Given the description of an element on the screen output the (x, y) to click on. 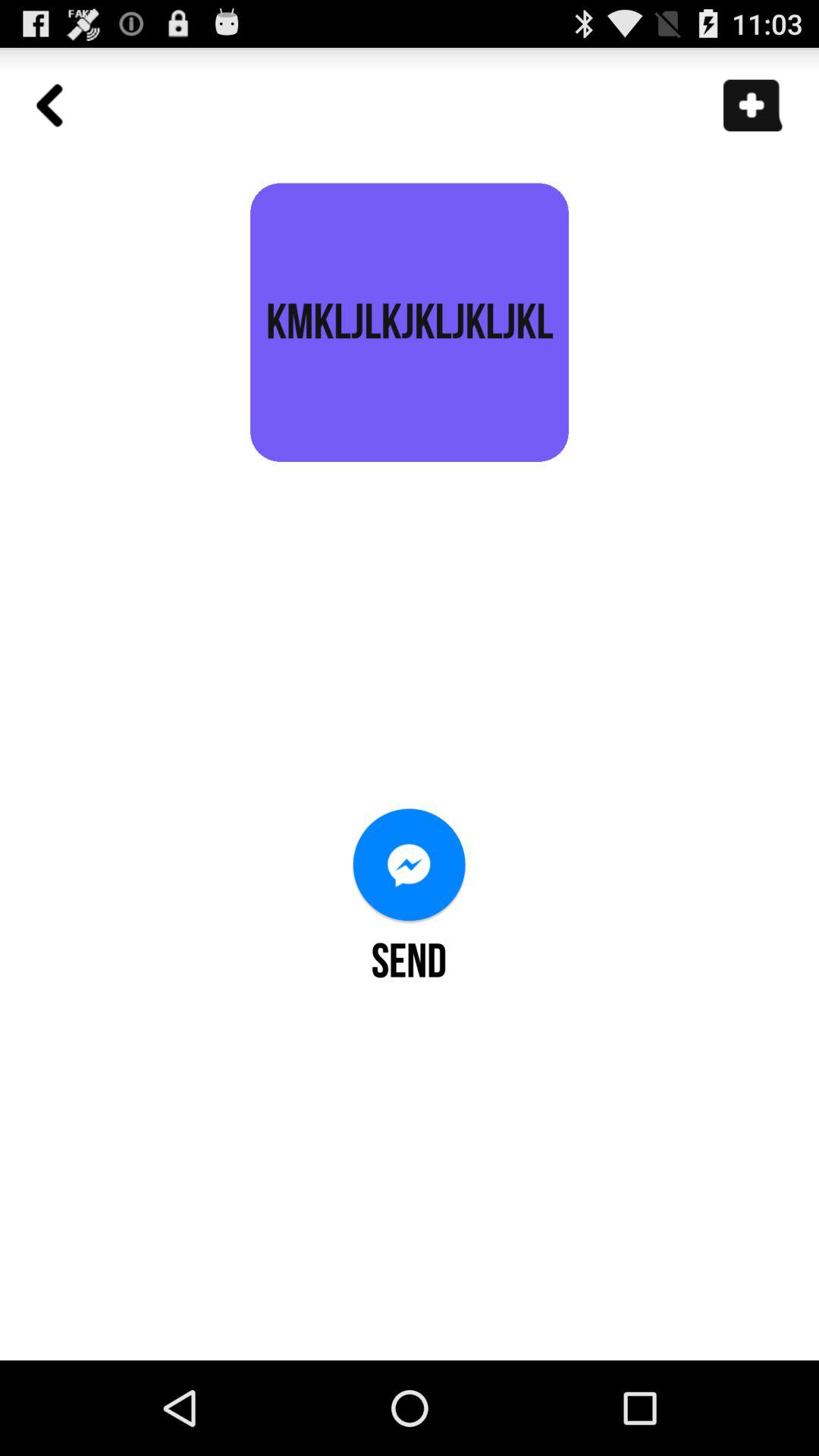
backword to option (57, 113)
